Given the description of an element on the screen output the (x, y) to click on. 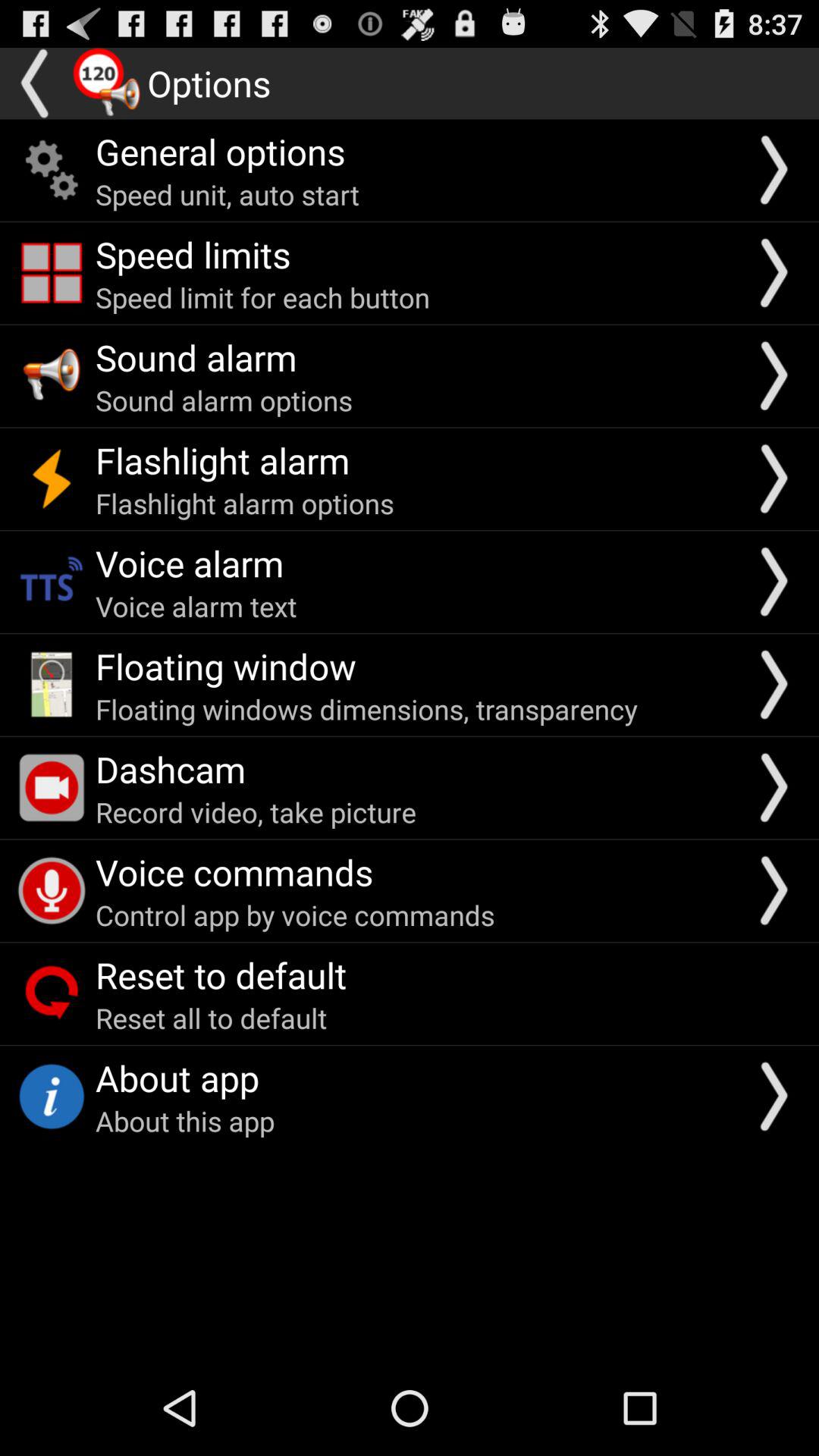
tap speed limits app (192, 254)
